Given the description of an element on the screen output the (x, y) to click on. 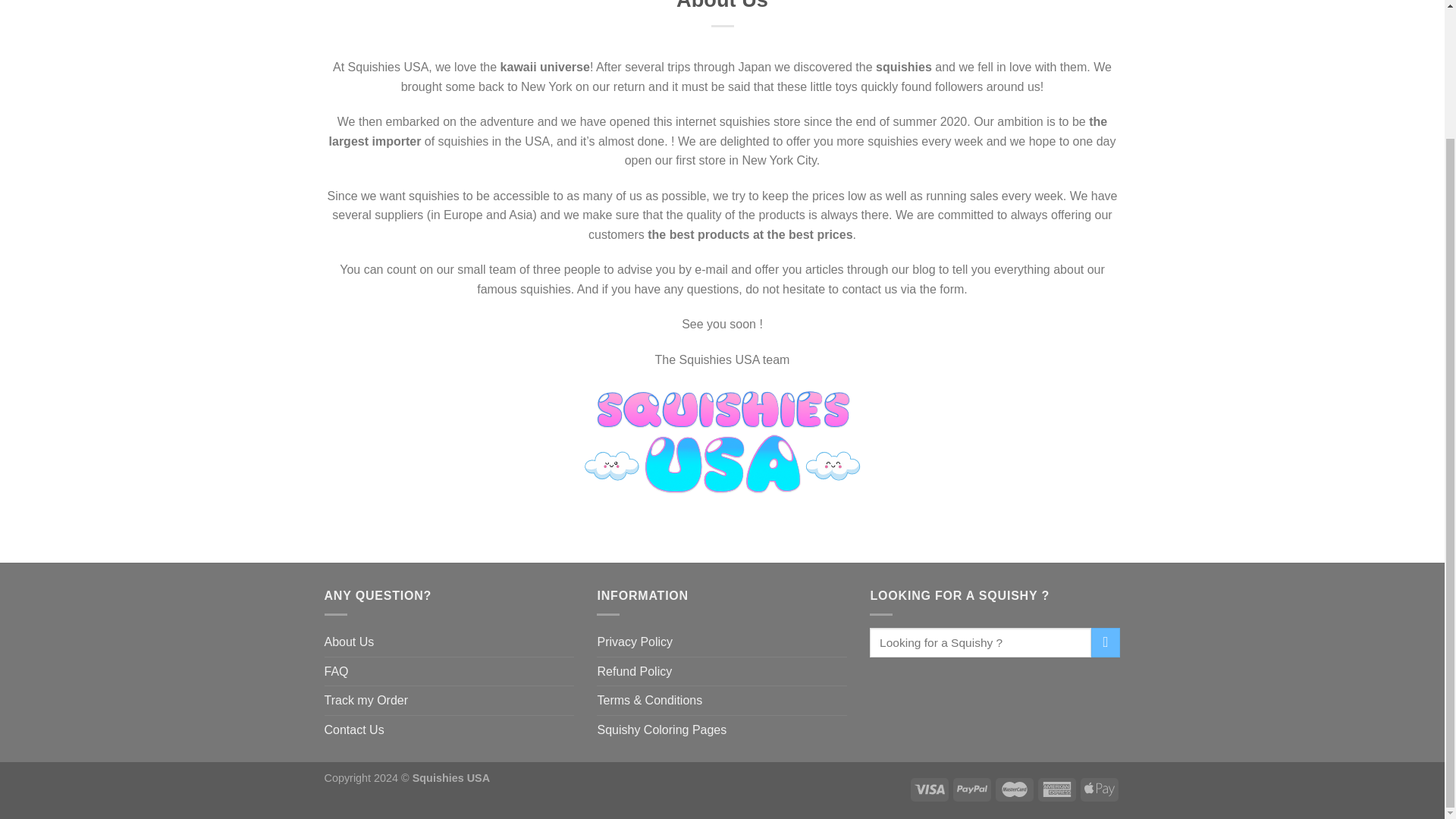
Track my Order (366, 700)
Privacy Policy (634, 642)
Refund Policy (633, 671)
About Us (349, 642)
Contact Us (354, 729)
Squishy Coloring Pages (661, 729)
